Given the description of an element on the screen output the (x, y) to click on. 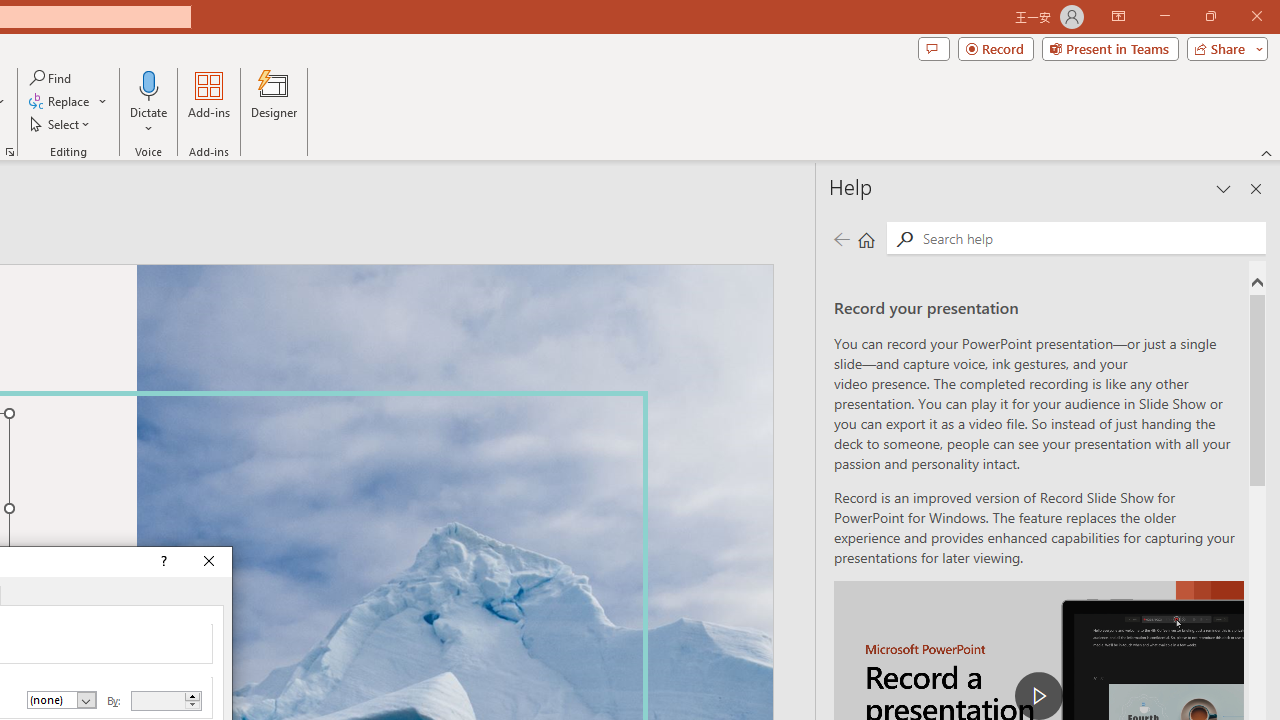
Special (61, 700)
play Record a Presentation (1038, 695)
Context help (162, 561)
